Given the description of an element on the screen output the (x, y) to click on. 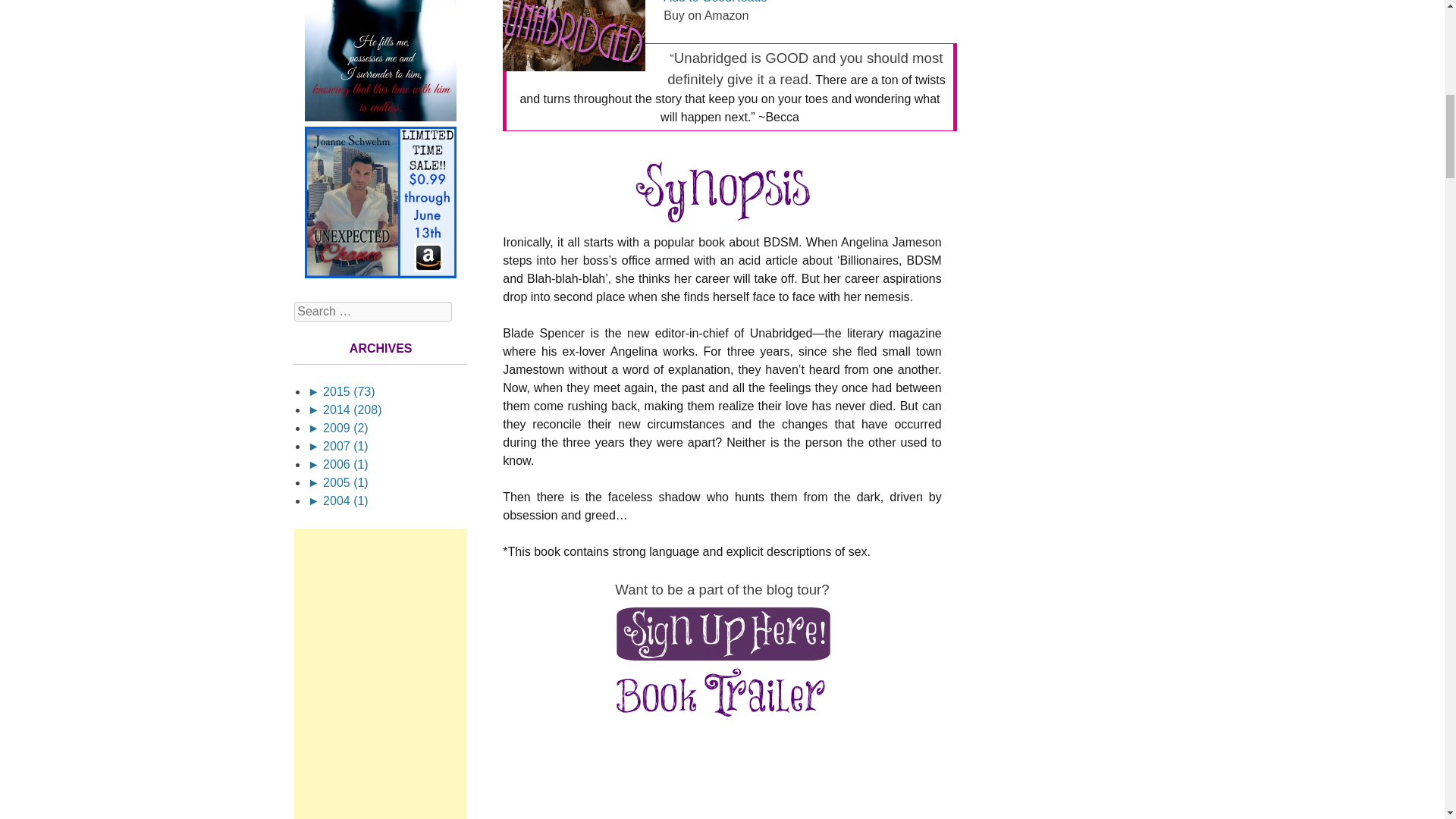
2015 (341, 391)
UnexpectedChance (380, 273)
